Given the description of an element on the screen output the (x, y) to click on. 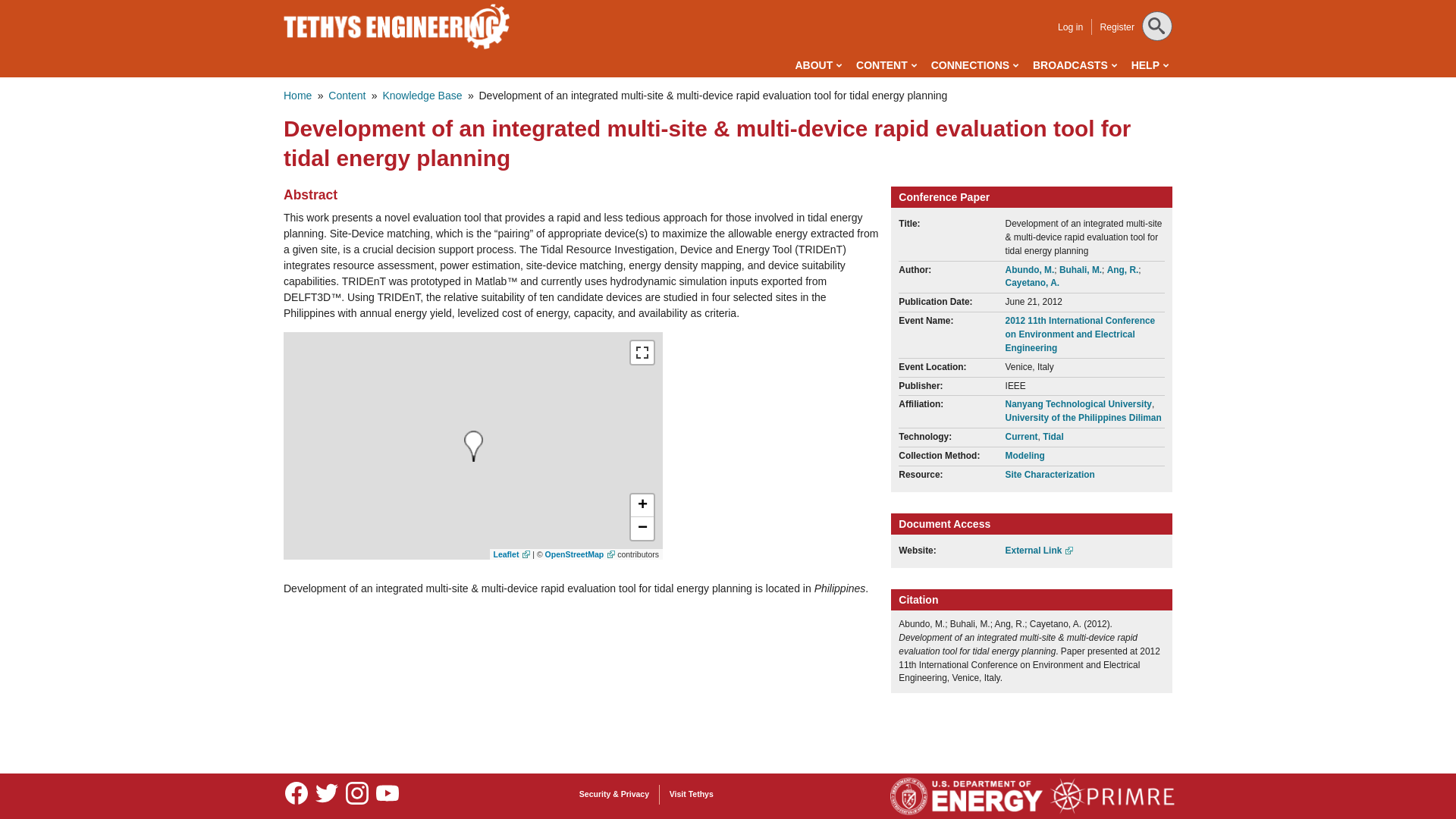
CONTENT (886, 65)
View Fullscreen (641, 352)
Search (31, 14)
Register (1116, 27)
Zoom in (641, 505)
Zoom out (641, 527)
Log in (1070, 27)
ABOUT (817, 65)
Skip to main content (659, 3)
Home (397, 26)
CONNECTIONS (974, 65)
A JavaScript library for interactive maps (512, 553)
